Given the description of an element on the screen output the (x, y) to click on. 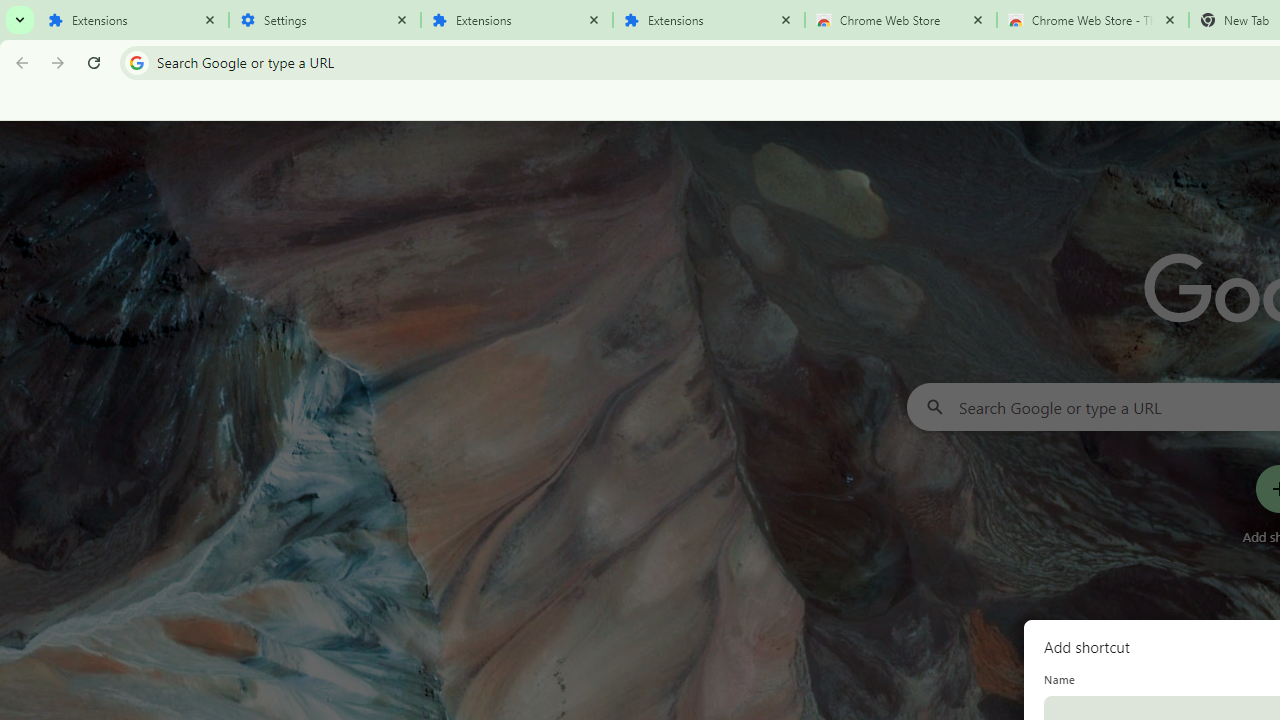
Chrome Web Store (901, 20)
Settings (325, 20)
Extensions (709, 20)
Extensions (517, 20)
Extensions (133, 20)
Chrome Web Store - Themes (1093, 20)
